Given the description of an element on the screen output the (x, y) to click on. 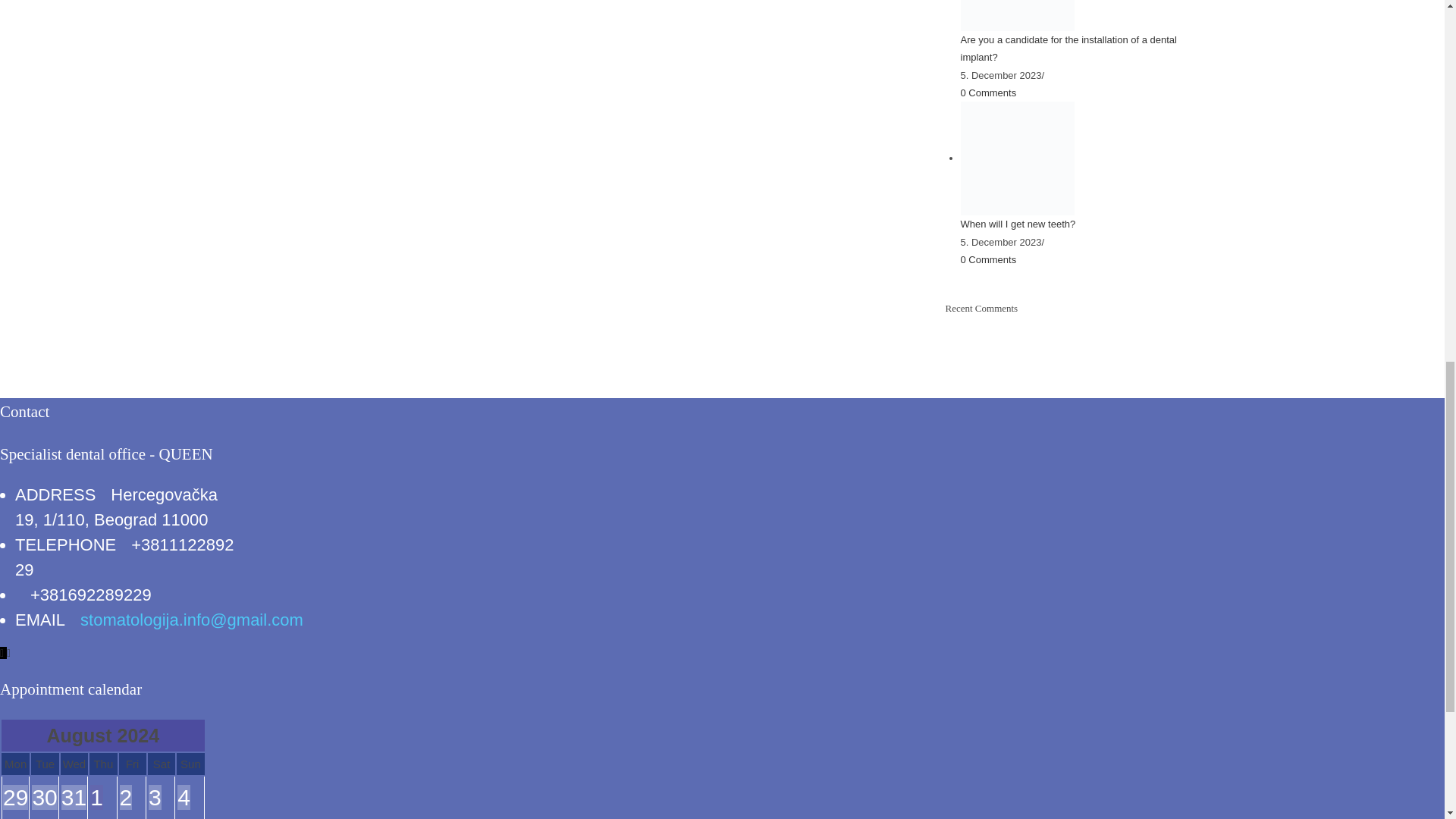
When will I get new teeth? (1016, 157)
